Given the description of an element on the screen output the (x, y) to click on. 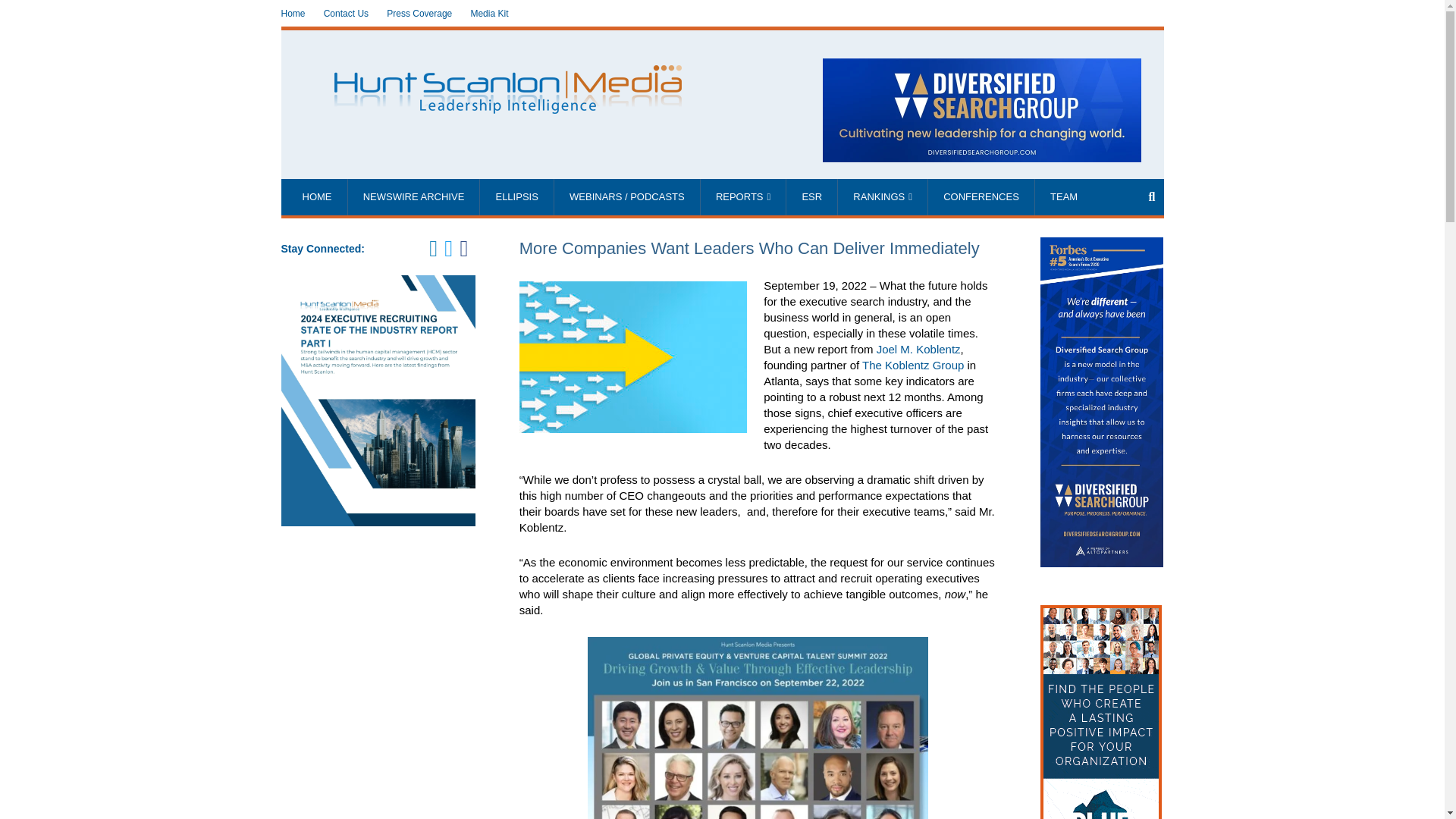
Press Coverage (419, 13)
REPORTS (743, 197)
Media Kit (489, 13)
ELLIPSIS (516, 197)
Contact Us (345, 13)
